Given the description of an element on the screen output the (x, y) to click on. 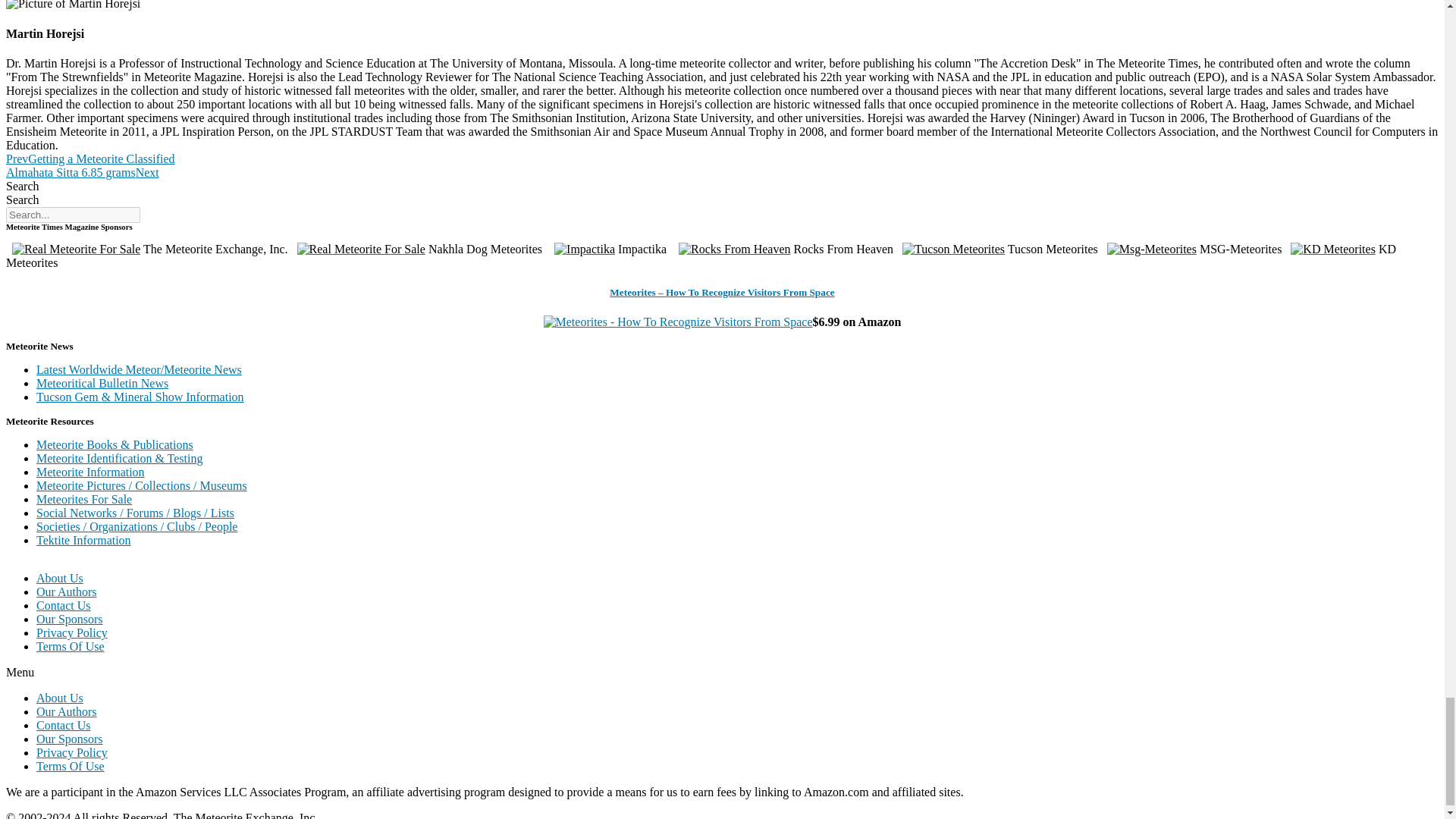
PrevGetting a Meteorite Classified (89, 158)
Meteoritical Bulletin News (102, 382)
Almahata Sitta 6.85 gramsNext (81, 172)
